Given the description of an element on the screen output the (x, y) to click on. 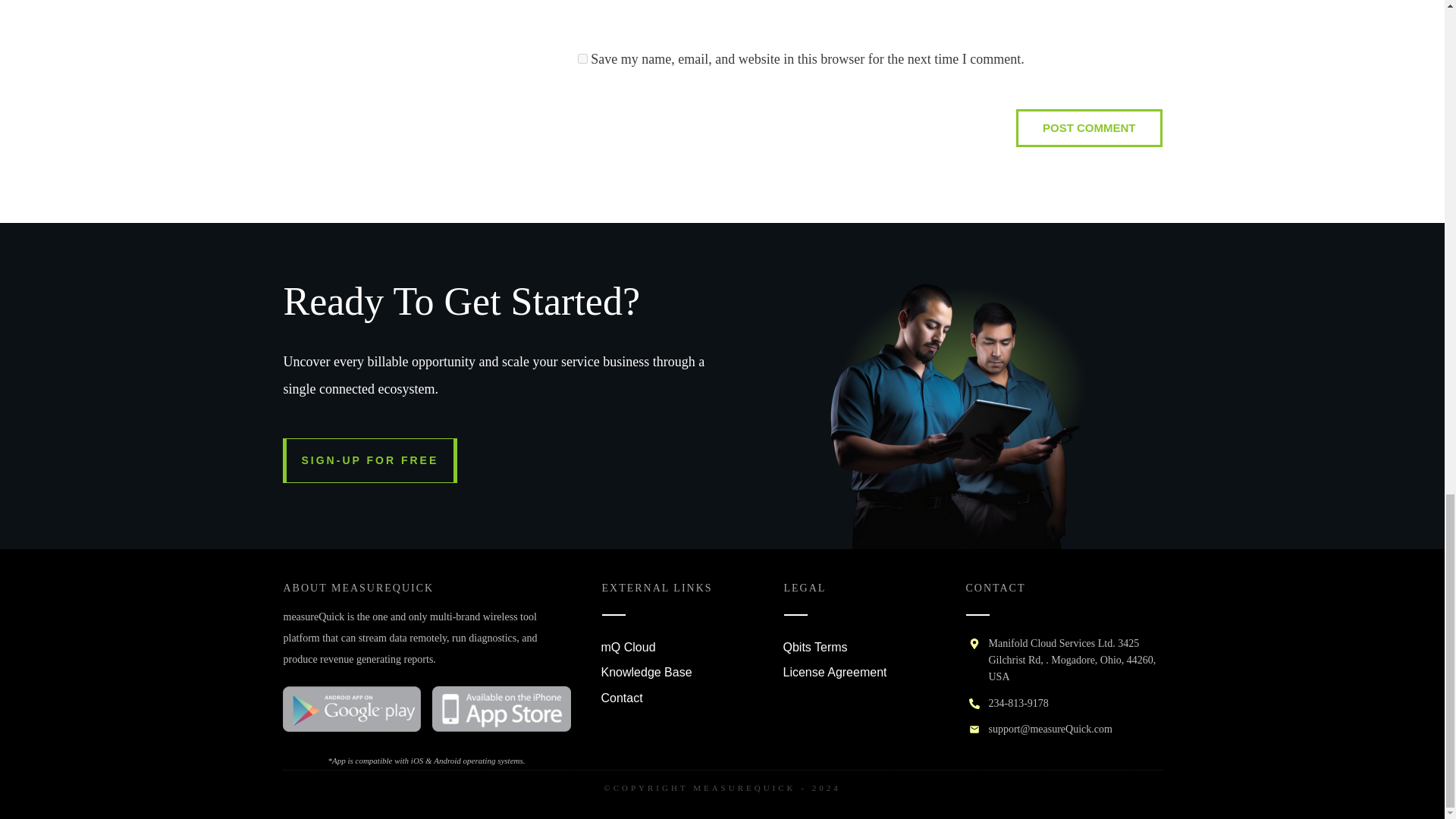
yes (583, 58)
